Given the description of an element on the screen output the (x, y) to click on. 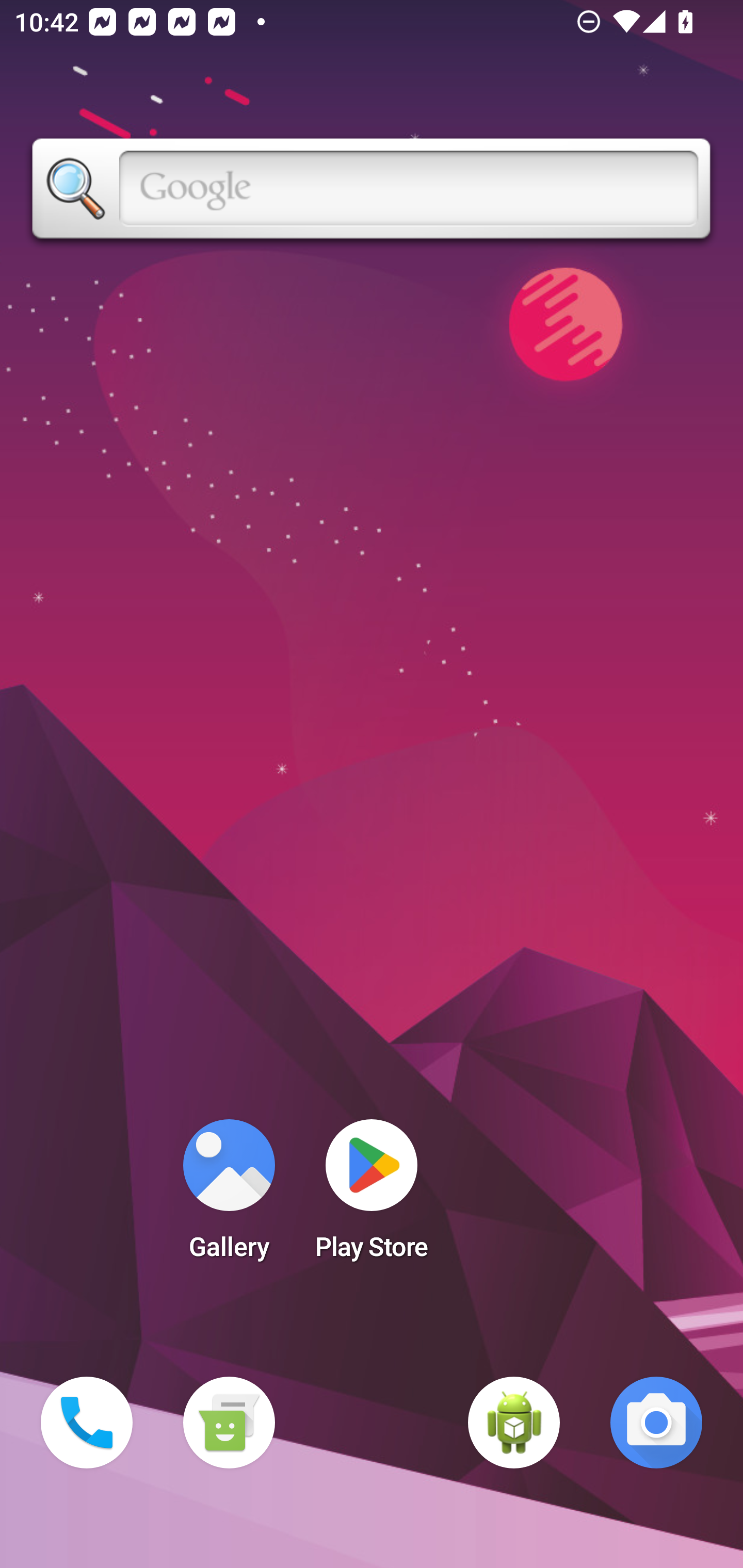
Gallery (228, 1195)
Play Store (371, 1195)
Phone (86, 1422)
Messaging (228, 1422)
WebView Browser Tester (513, 1422)
Camera (656, 1422)
